Given the description of an element on the screen output the (x, y) to click on. 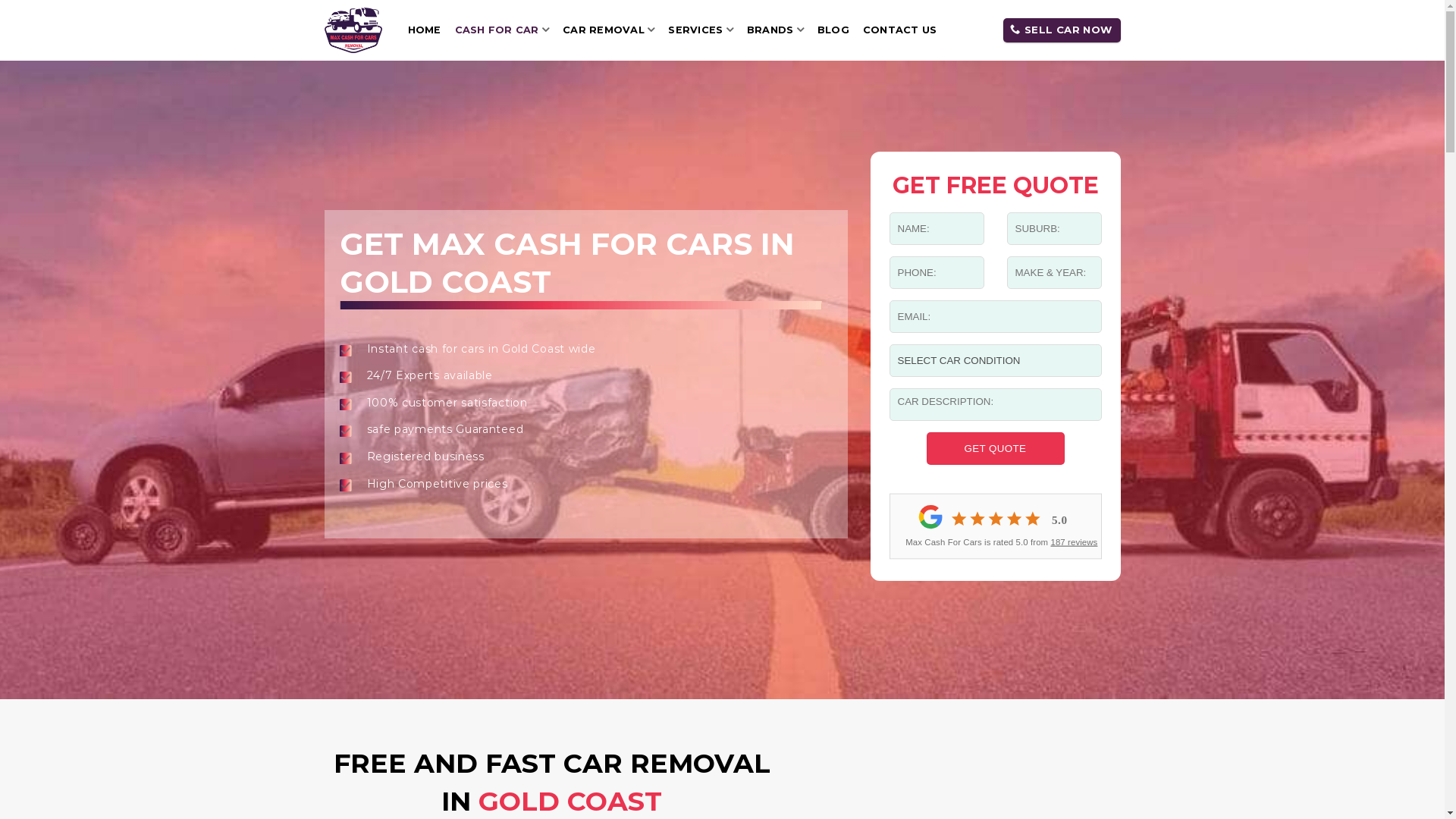
CASH FOR CAR Element type: text (502, 29)
CAR REMOVAL Element type: text (608, 29)
HOME Element type: text (424, 29)
GET QUOTE Element type: text (995, 448)
BLOG Element type: text (833, 29)
BRANDS Element type: text (774, 29)
SERVICES Element type: text (700, 29)
SELL CAR NOW Element type: text (1061, 30)
CONTACT US Element type: text (899, 29)
